Given the description of an element on the screen output the (x, y) to click on. 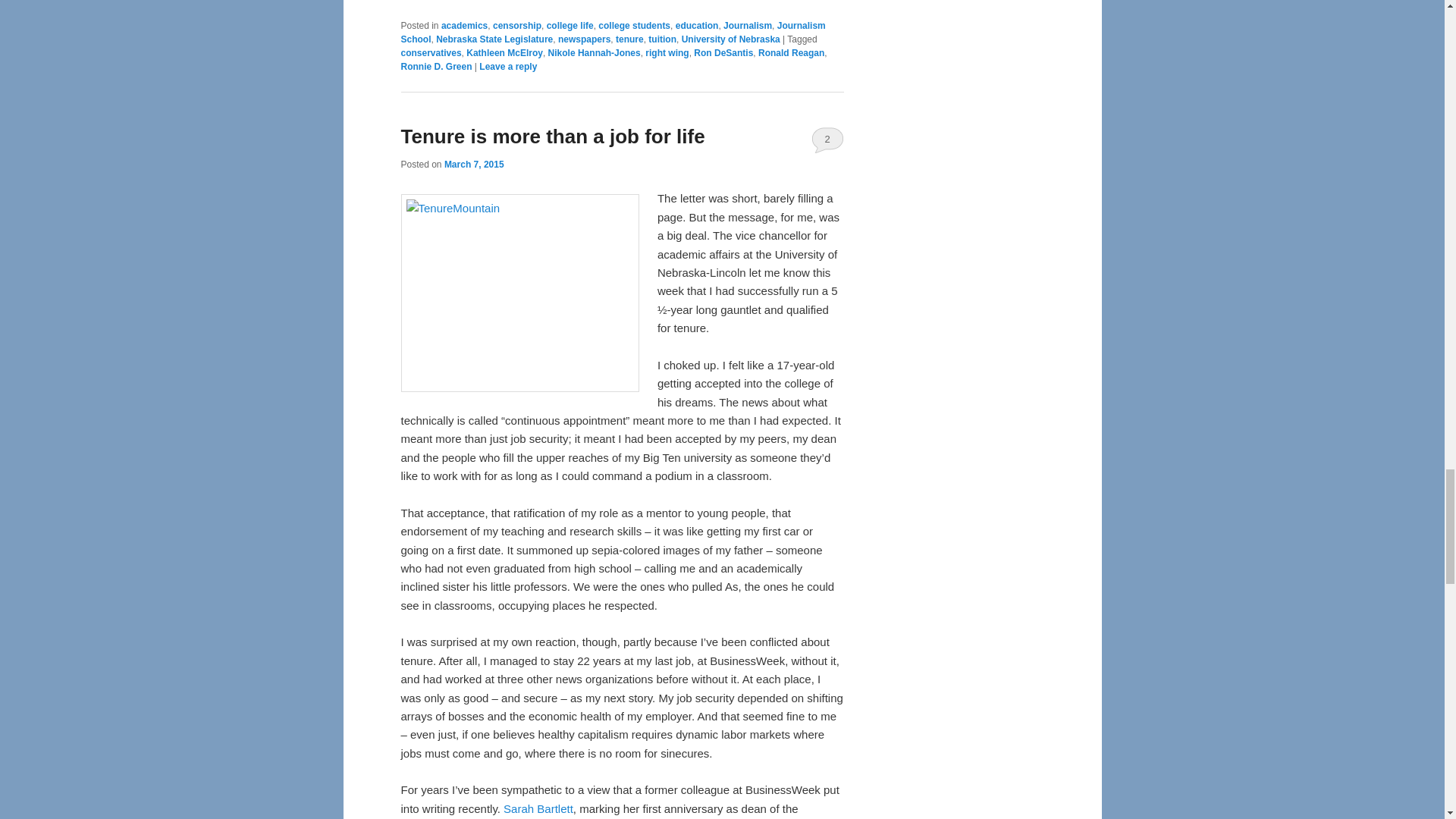
Journalism School (612, 32)
9:33 am (473, 163)
college students (633, 25)
college life (570, 25)
education (697, 25)
newspapers (583, 39)
censorship (517, 25)
Nebraska State Legislature (494, 39)
academics (464, 25)
Journalism (747, 25)
